Given the description of an element on the screen output the (x, y) to click on. 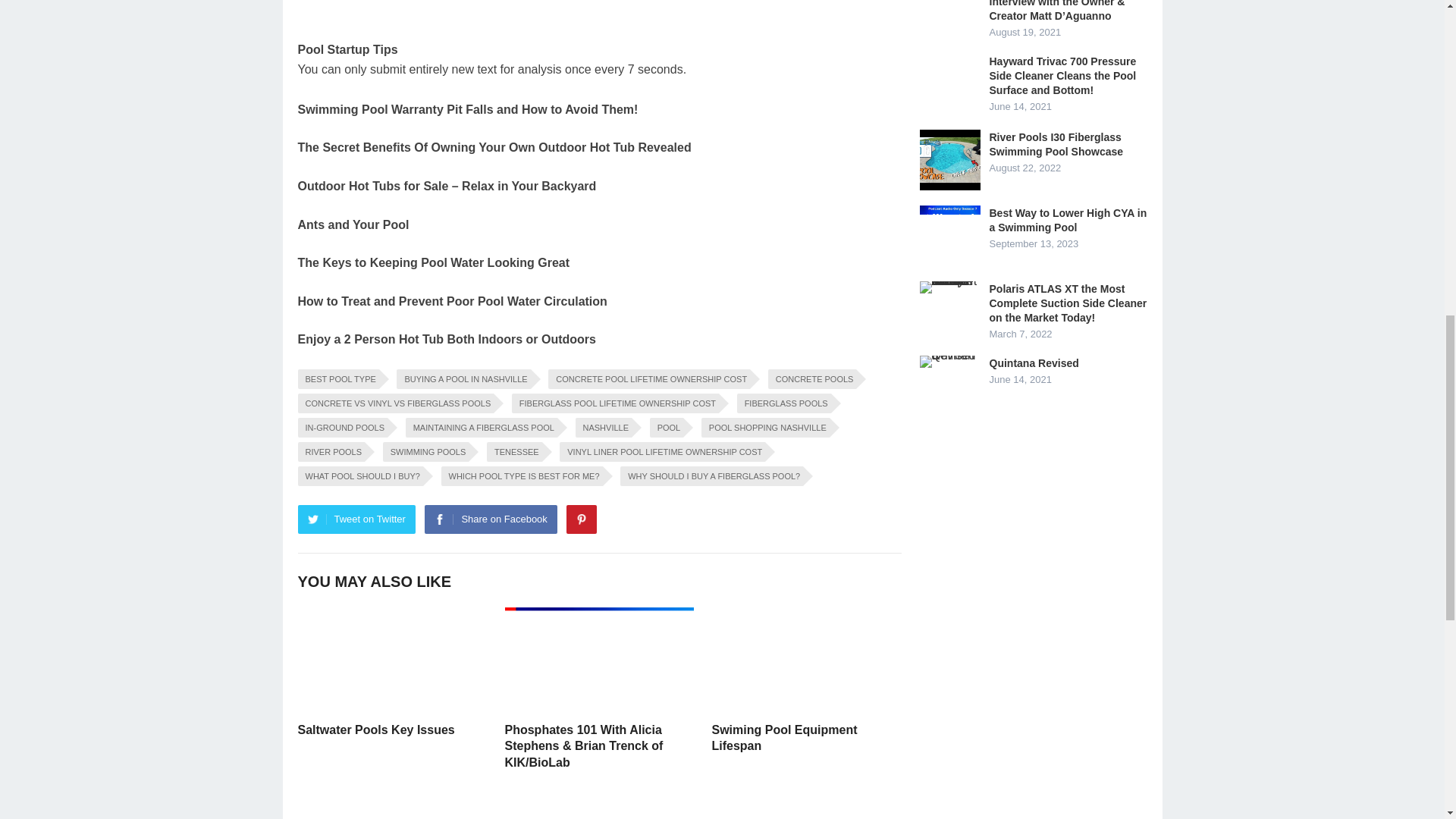
Swiming Pool Equipment Lifespan 6 (805, 659)
Saltwater Pools Key Issues 2 (391, 659)
SWIMMING POOLS (425, 451)
RIVER POOLS (331, 451)
Best Way to Lower High CYA in a Swimming Pool 20 (948, 235)
CONCRETE VS VINYL VS FIBERGLASS POOLS (395, 403)
POOL SHOPPING NASHVILLE (765, 427)
BUYING A POOL IN NASHVILLE (462, 379)
BEST POOL TYPE (337, 379)
